Given the description of an element on the screen output the (x, y) to click on. 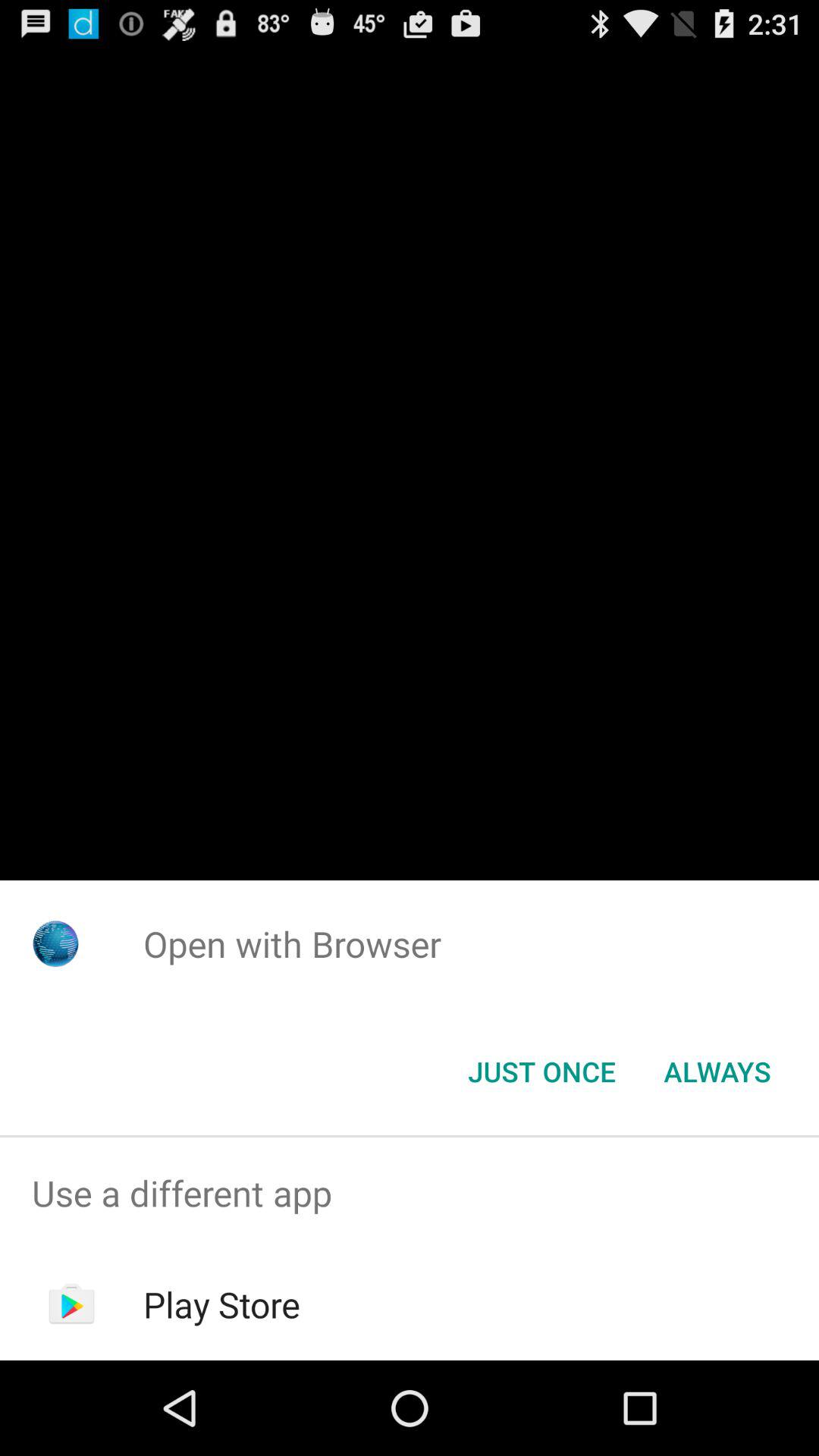
choose app above play store item (409, 1192)
